Given the description of an element on the screen output the (x, y) to click on. 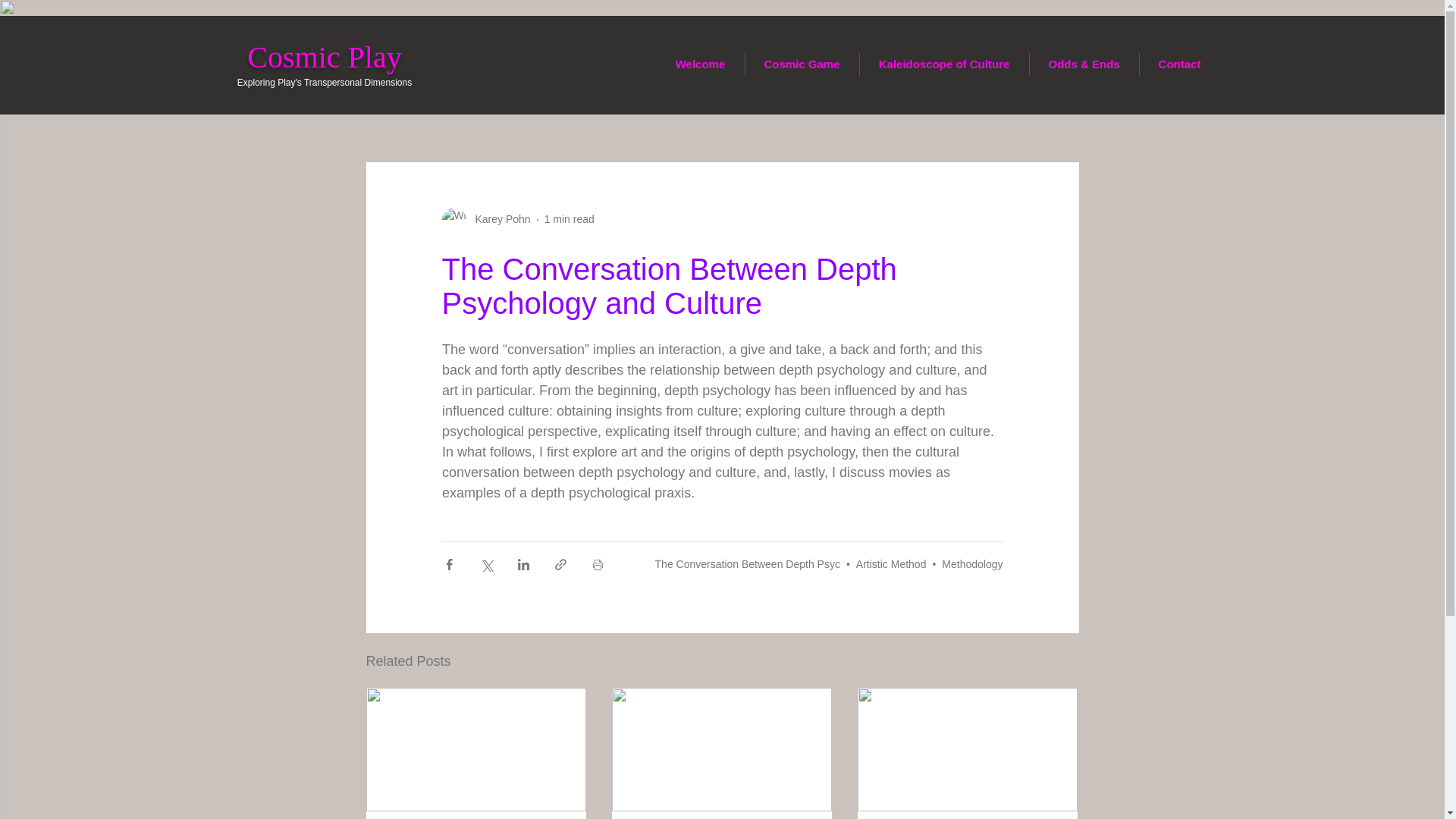
Kaleidoscope of Culture (944, 64)
1 min read (569, 218)
Karey Pohn (497, 219)
Cosmic Play (324, 57)
Contact (1179, 64)
Methodology (972, 563)
Artistic Method (891, 563)
The Conversation Between Depth Psyc (747, 563)
Cosmic Game (801, 64)
Welcome (700, 64)
